Given the description of an element on the screen output the (x, y) to click on. 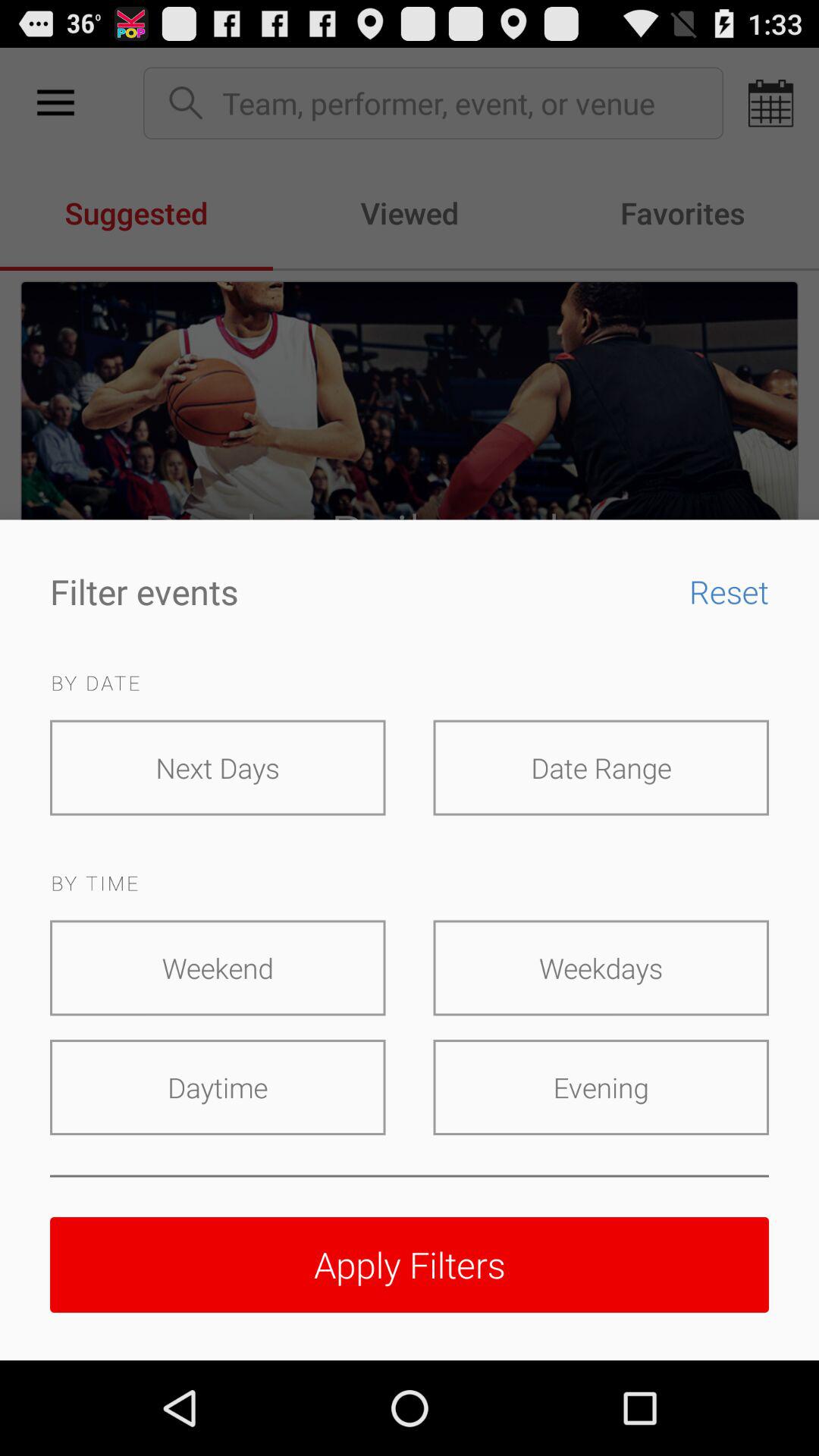
open the weekdays icon (600, 967)
